Given the description of an element on the screen output the (x, y) to click on. 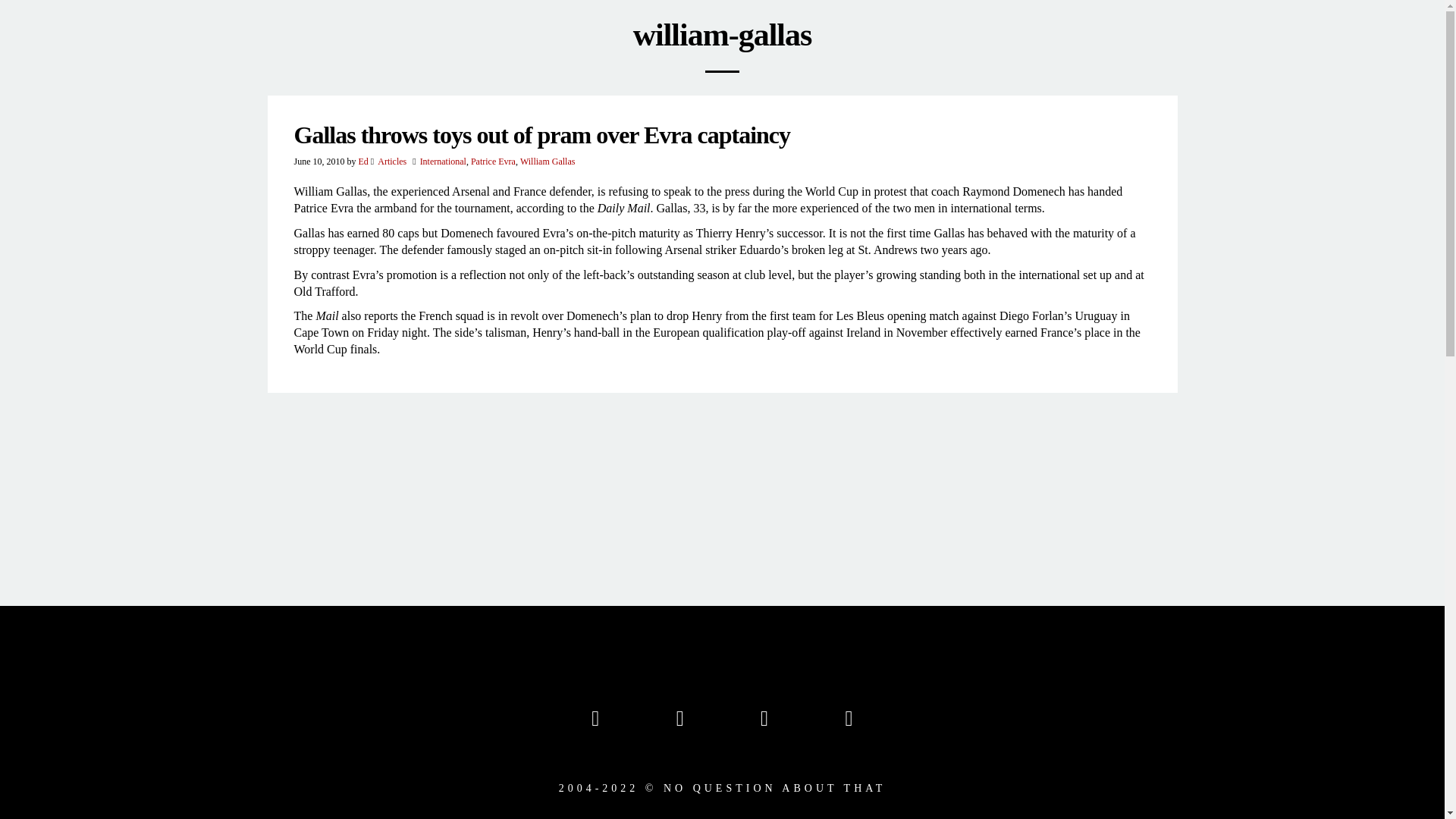
International (442, 160)
Gallas throws toys out of pram over Evra captaincy (722, 135)
Patrice Evra (492, 160)
Articles (391, 160)
Ed (363, 161)
June 10, 2010 (320, 161)
William Gallas (547, 160)
